Given the description of an element on the screen output the (x, y) to click on. 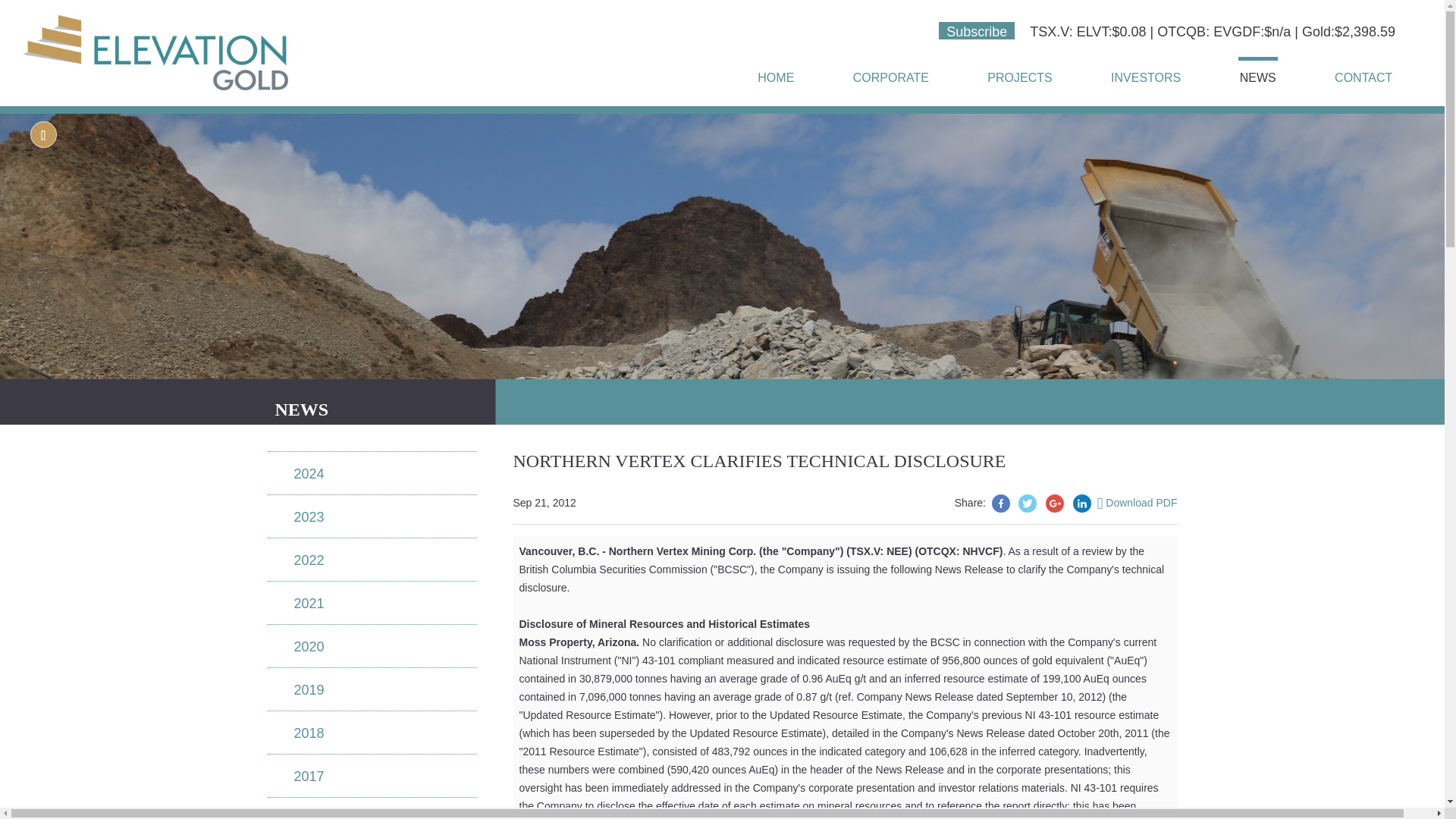
Subscribe (976, 30)
NEWS (1258, 72)
Share on LinkedIn (1081, 503)
Share on Facebook (1000, 503)
PROJECTS (1018, 74)
INVESTORS (1145, 74)
HOME (774, 74)
Share on Google Plus (1054, 503)
CORPORATE (890, 74)
CONTACT (1363, 74)
Share on Twitter (1026, 503)
